Given the description of an element on the screen output the (x, y) to click on. 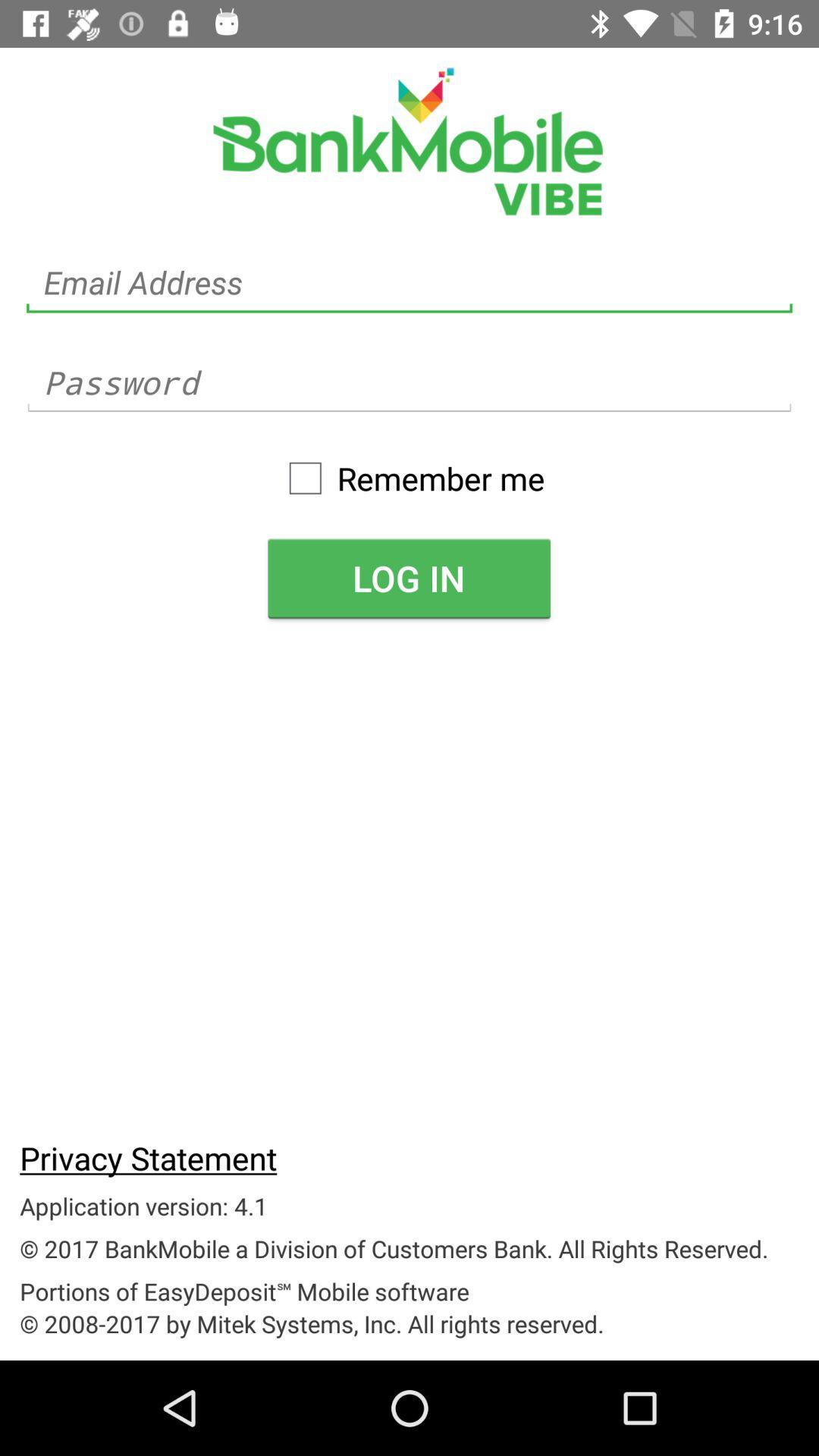
turn on item below the log in (147, 1157)
